Given the description of an element on the screen output the (x, y) to click on. 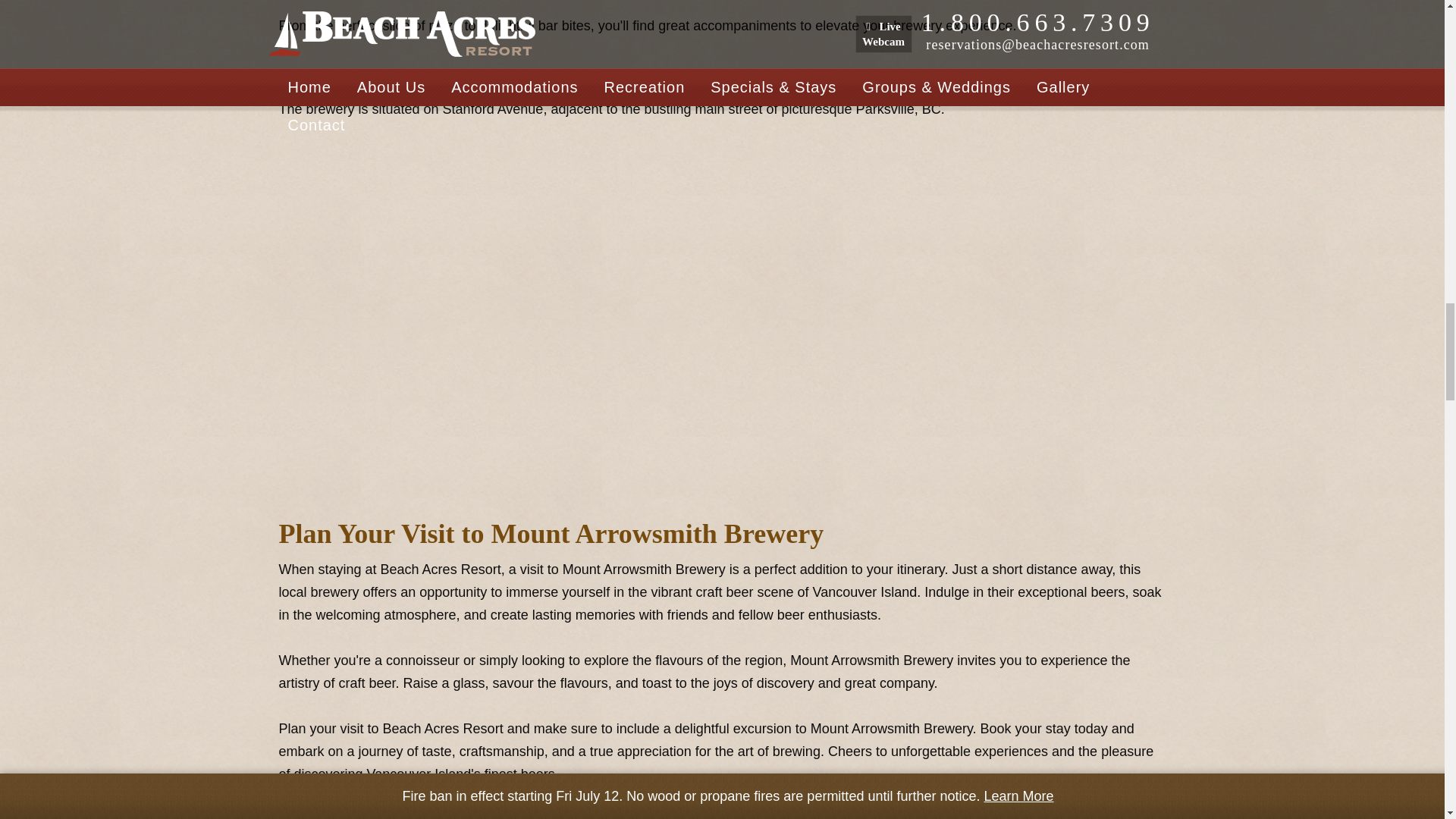
BOOK NOW (722, 813)
